Given the description of an element on the screen output the (x, y) to click on. 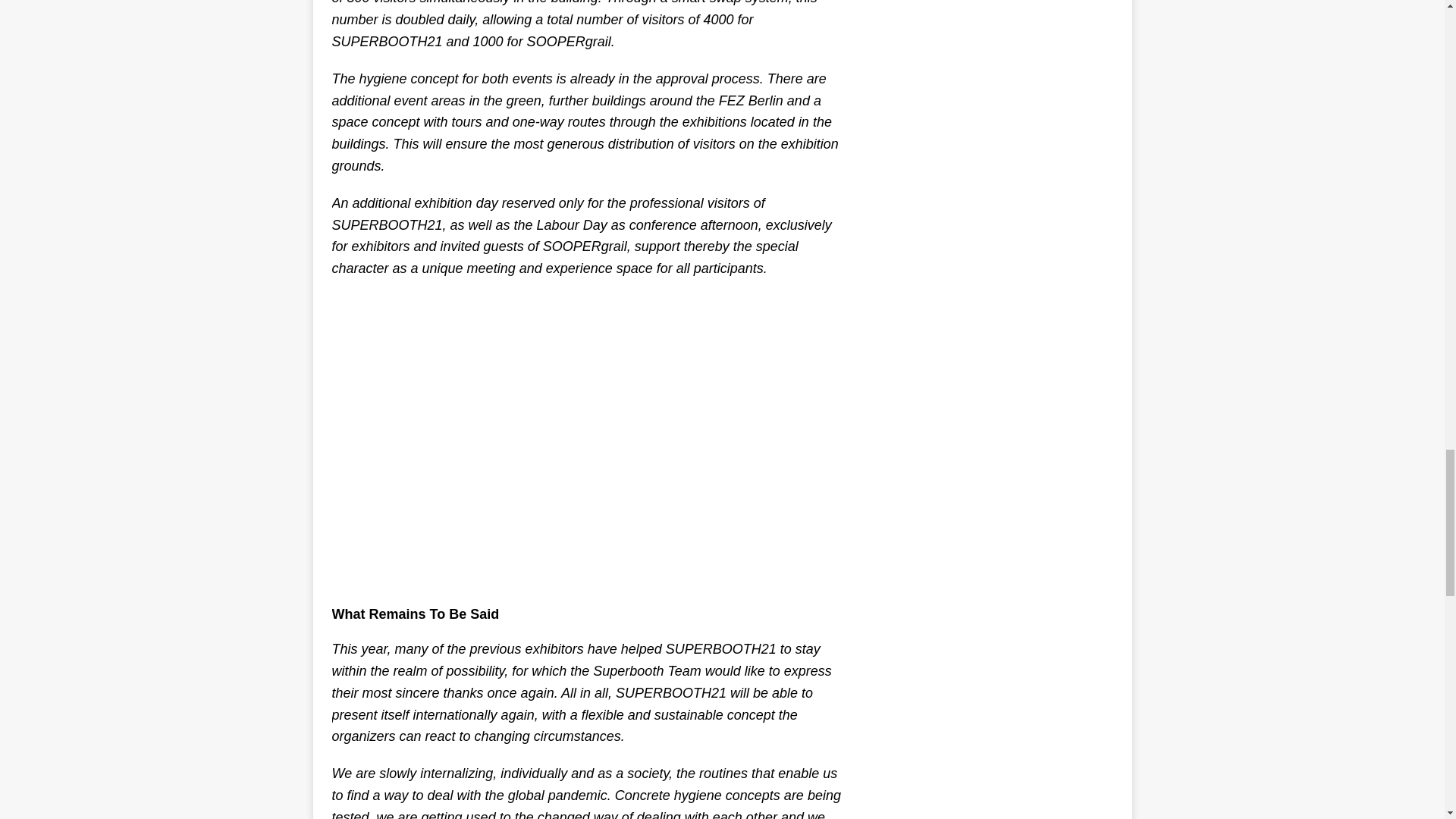
Page 2 (588, 728)
